Given the description of an element on the screen output the (x, y) to click on. 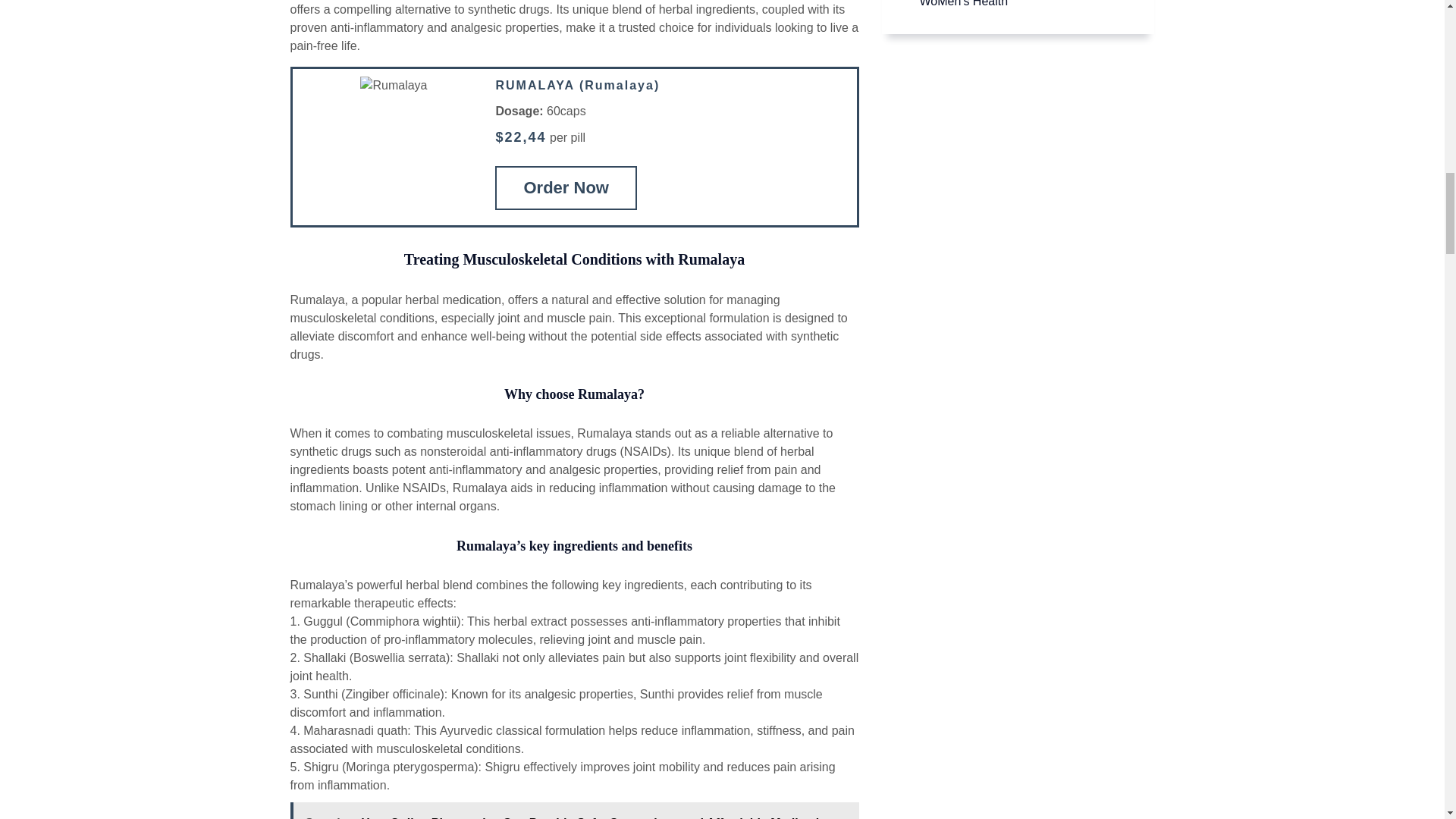
Order Now (565, 187)
